Given the description of an element on the screen output the (x, y) to click on. 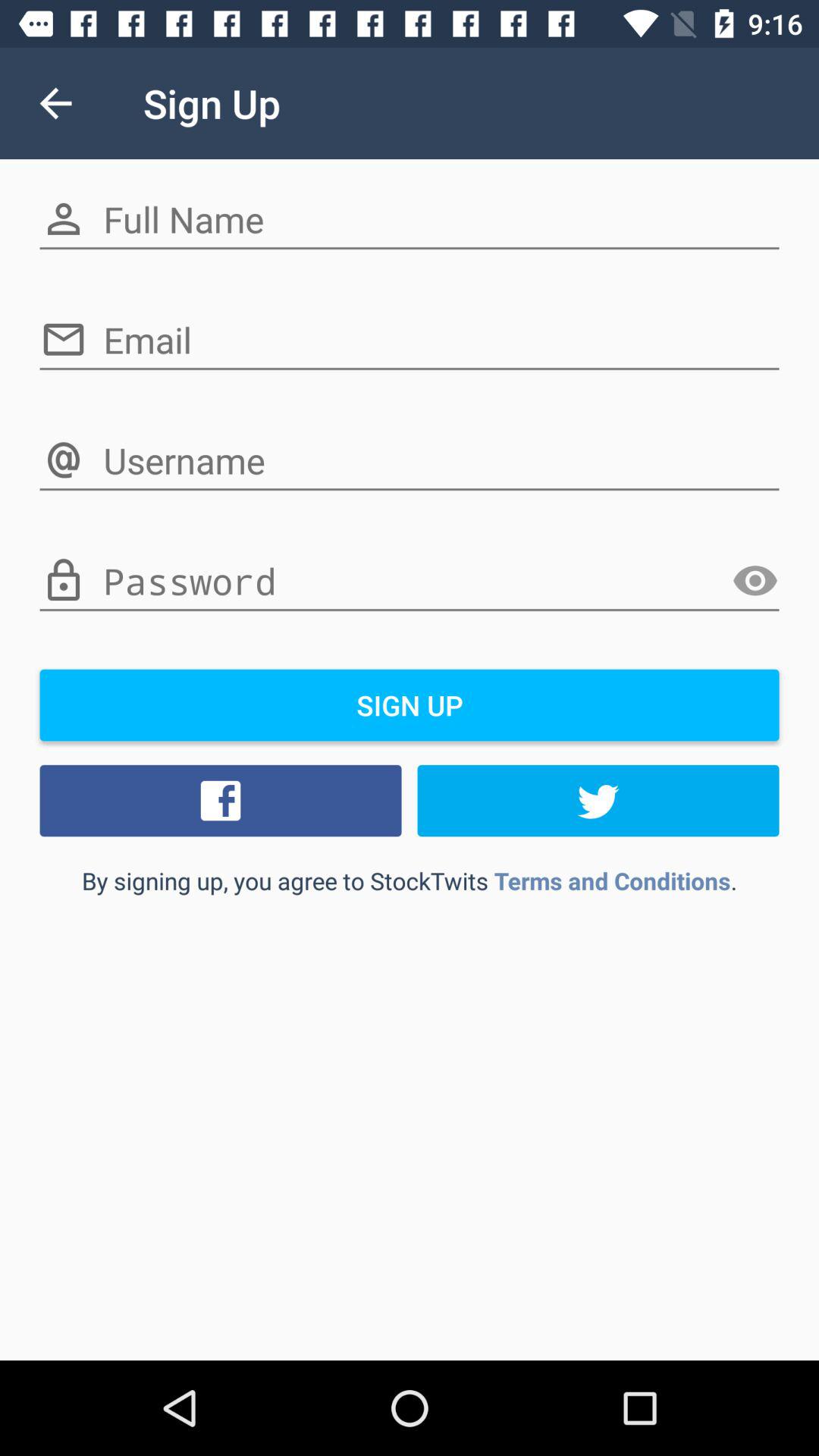
select item above by signing up item (598, 800)
